Given the description of an element on the screen output the (x, y) to click on. 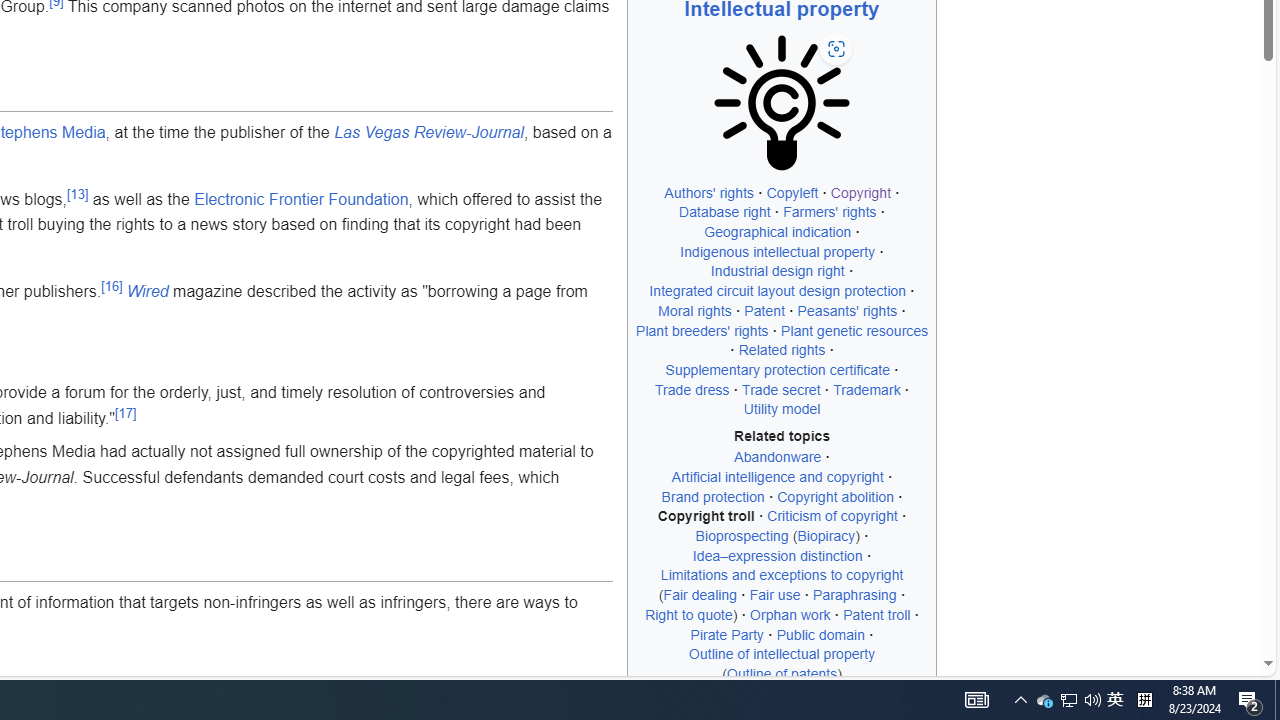
(Biopiracy) (826, 536)
Right to quote (689, 614)
Authors' rights (709, 192)
Database right (724, 212)
[17] (125, 412)
Right to quote) (691, 614)
Pirate Party (727, 633)
